Given the description of an element on the screen output the (x, y) to click on. 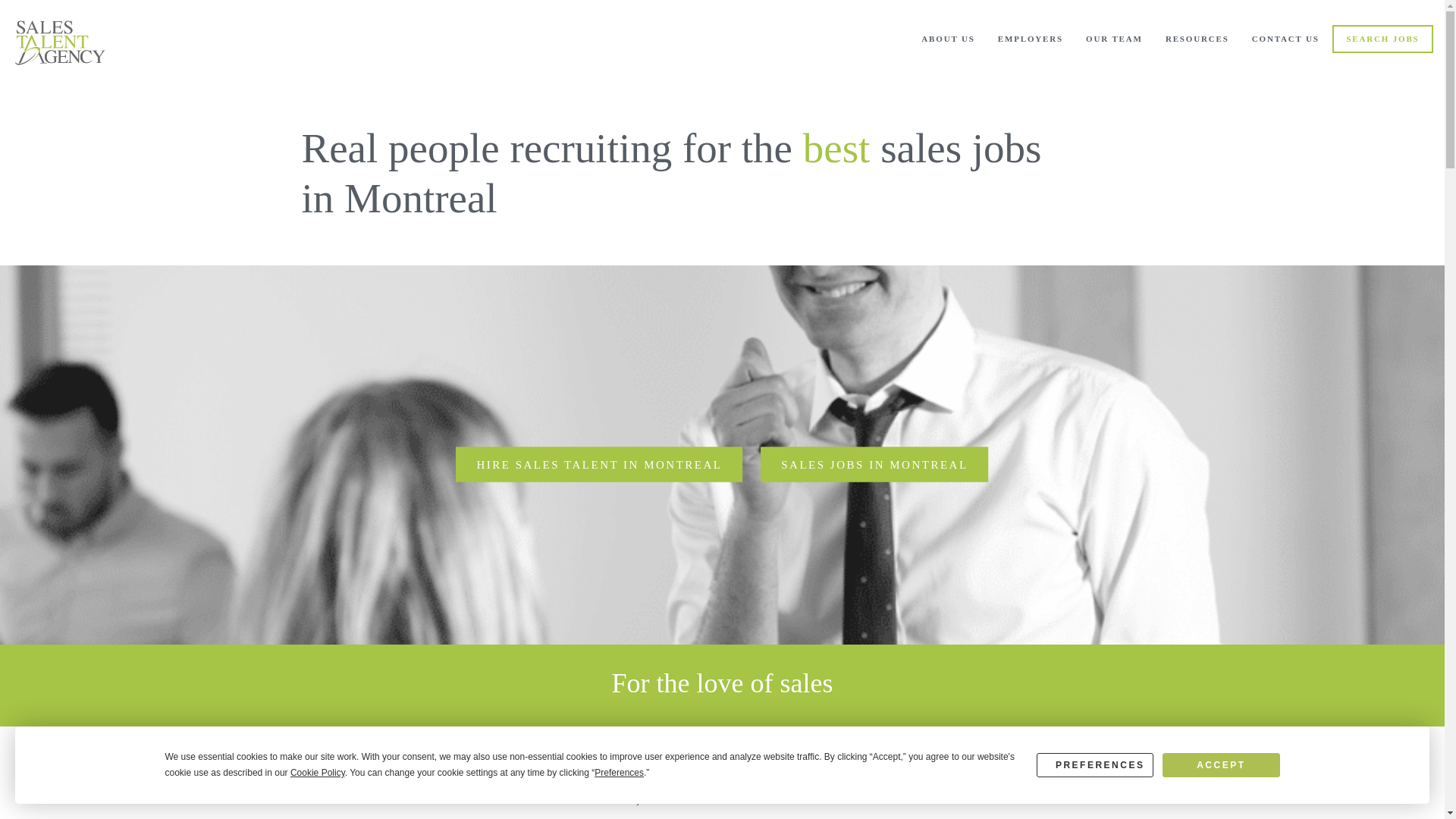
PREFERENCES (1094, 764)
ACCEPT (1220, 764)
ABOUT US (947, 38)
